Given the description of an element on the screen output the (x, y) to click on. 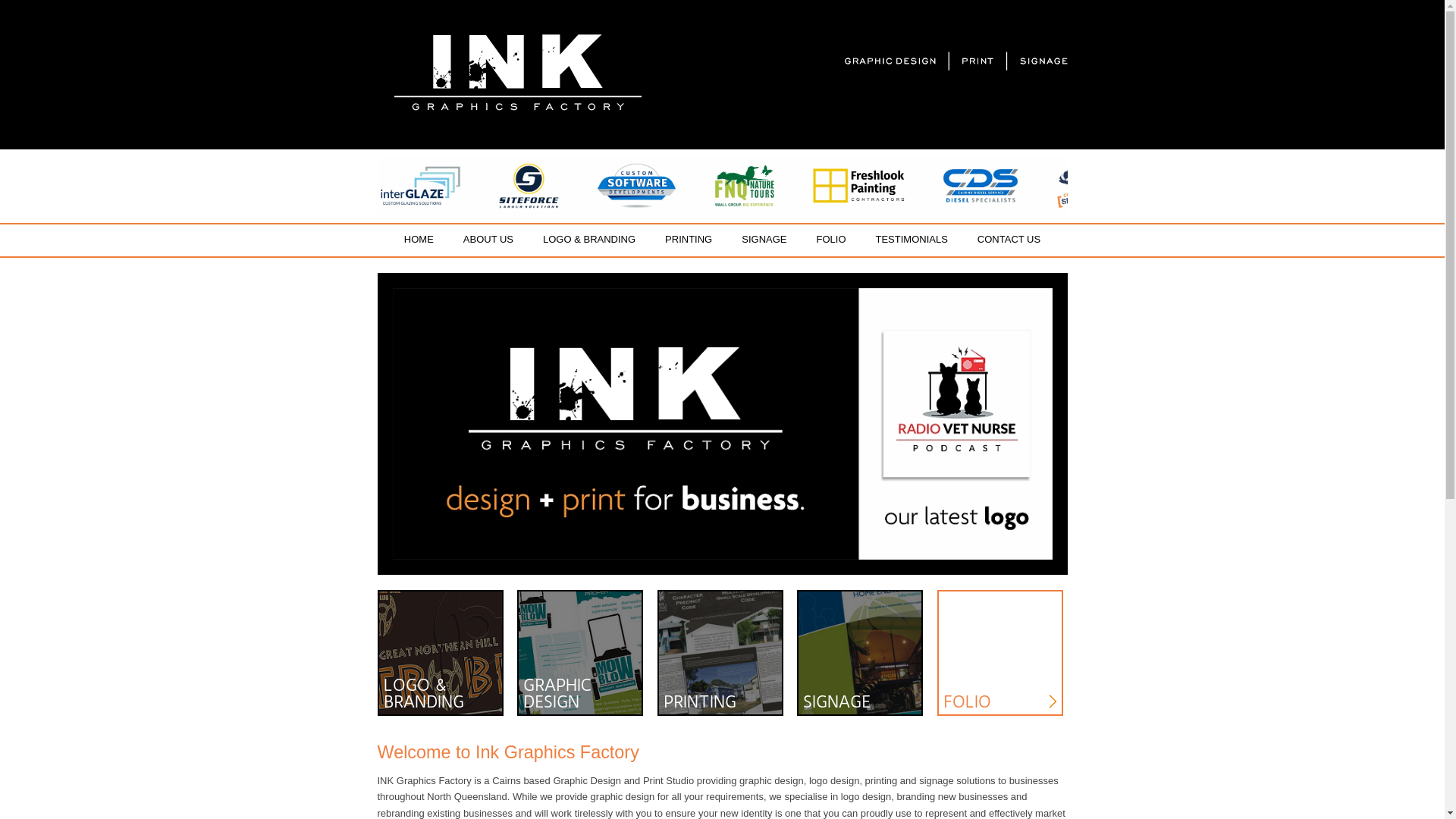
GRAPHIC DESIGN Element type: text (579, 652)
LOGO & BRANDING Element type: text (589, 239)
PRINTING Element type: text (688, 239)
HOME Element type: text (418, 239)
FOLIO Element type: text (999, 652)
TESTIMONIALS Element type: text (911, 239)
PRINTING Element type: text (719, 652)
SIGNAGE Element type: text (764, 239)
CONTACT US Element type: text (1008, 239)
FOLIO Element type: text (830, 239)
SIGNAGE Element type: text (859, 652)
ABOUT US Element type: text (487, 239)
LOGO & BRANDING Element type: text (440, 652)
